Given the description of an element on the screen output the (x, y) to click on. 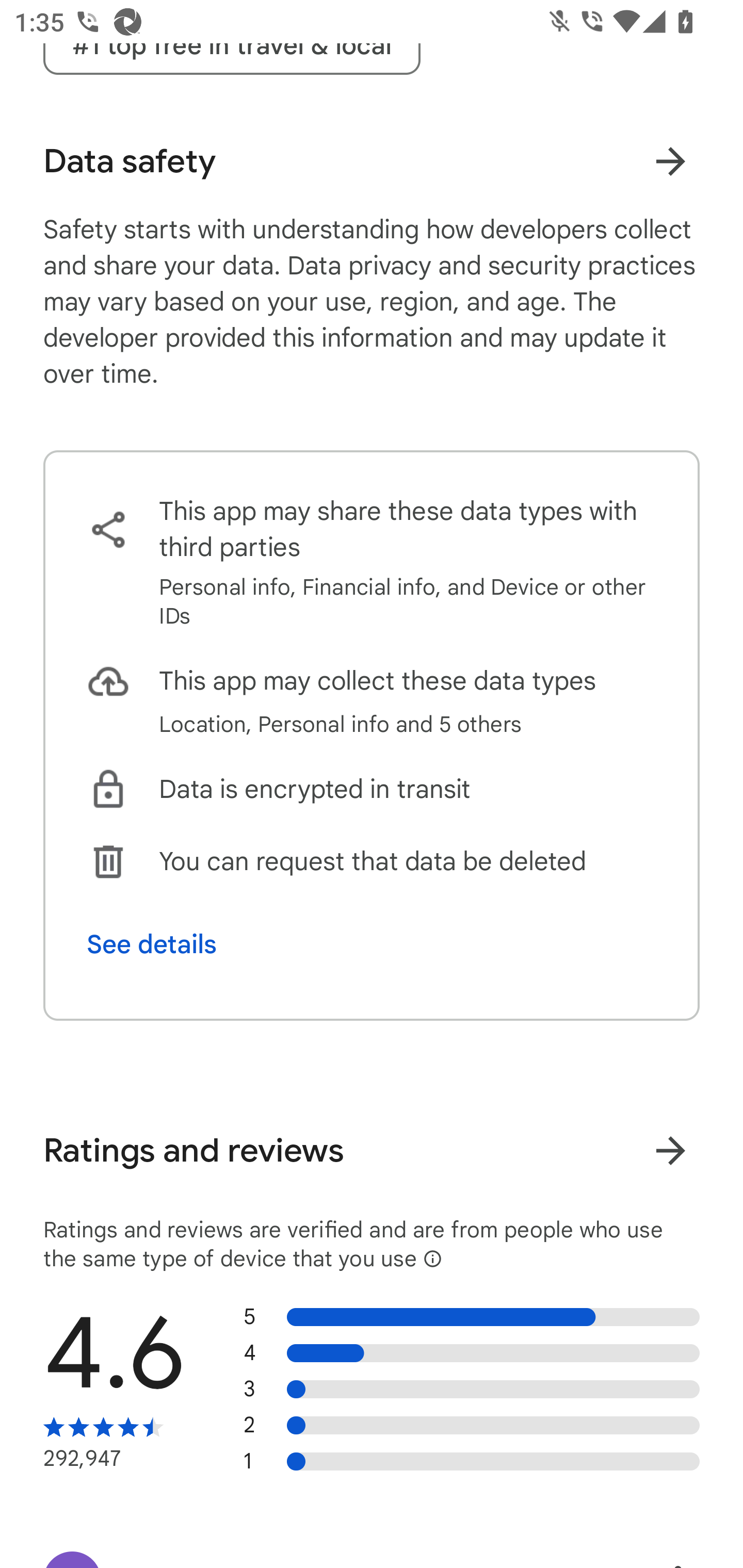
Data safety Learn more about data safety (371, 161)
Learn more about data safety (670, 161)
See details (151, 944)
Ratings and reviews View all ratings and reviews (371, 1150)
View all ratings and reviews (670, 1150)
